Given the description of an element on the screen output the (x, y) to click on. 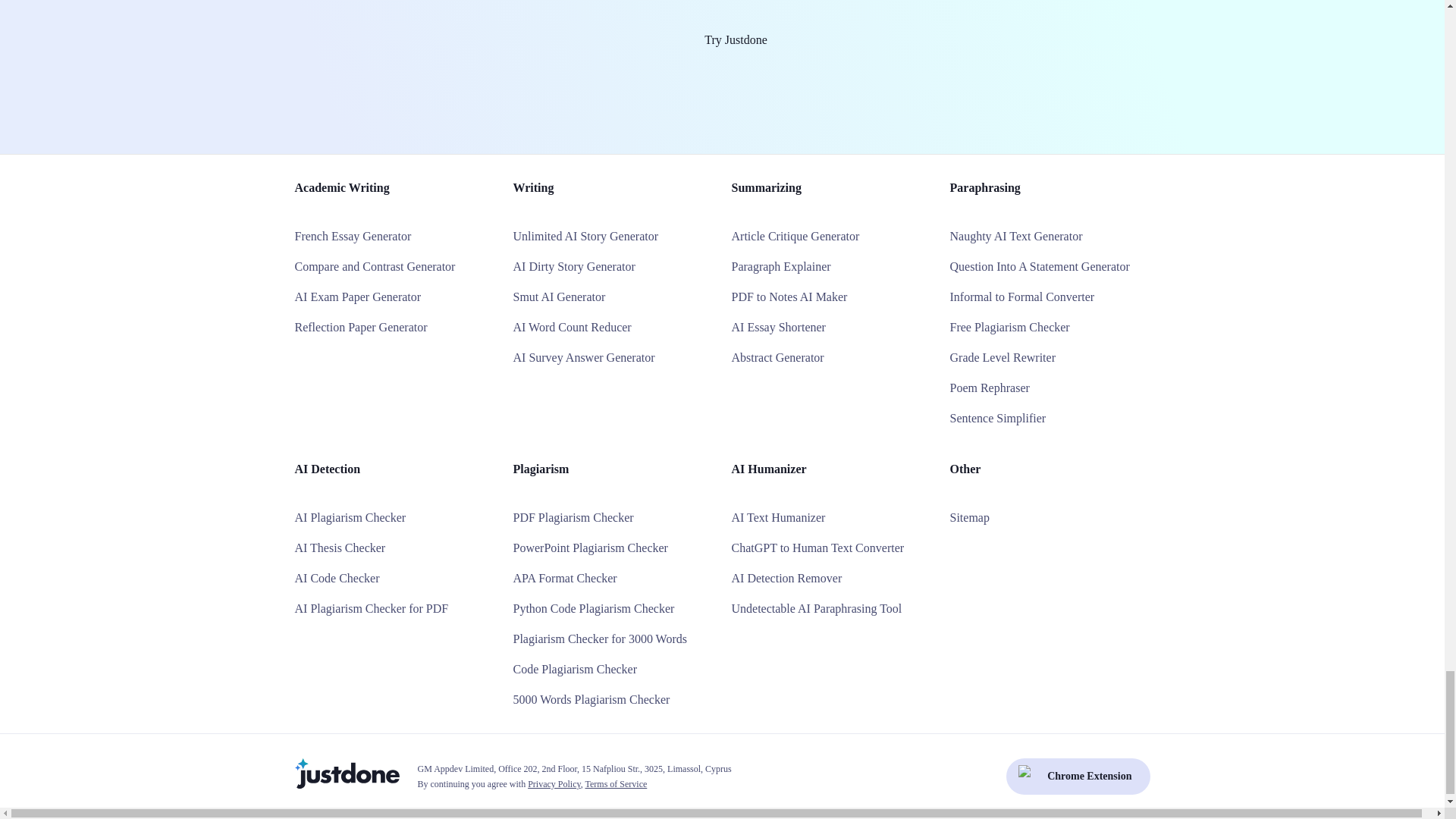
Writing (532, 187)
French Essay Generator (352, 236)
AI Survey Answer Generator (582, 357)
Try Justdone (721, 39)
Article Critique Generator (794, 236)
AI Dirty Story Generator (573, 266)
Summarizing (765, 187)
Reflection Paper Generator (360, 327)
Abstract Generator (777, 357)
AI Essay Shortener (777, 327)
